Given the description of an element on the screen output the (x, y) to click on. 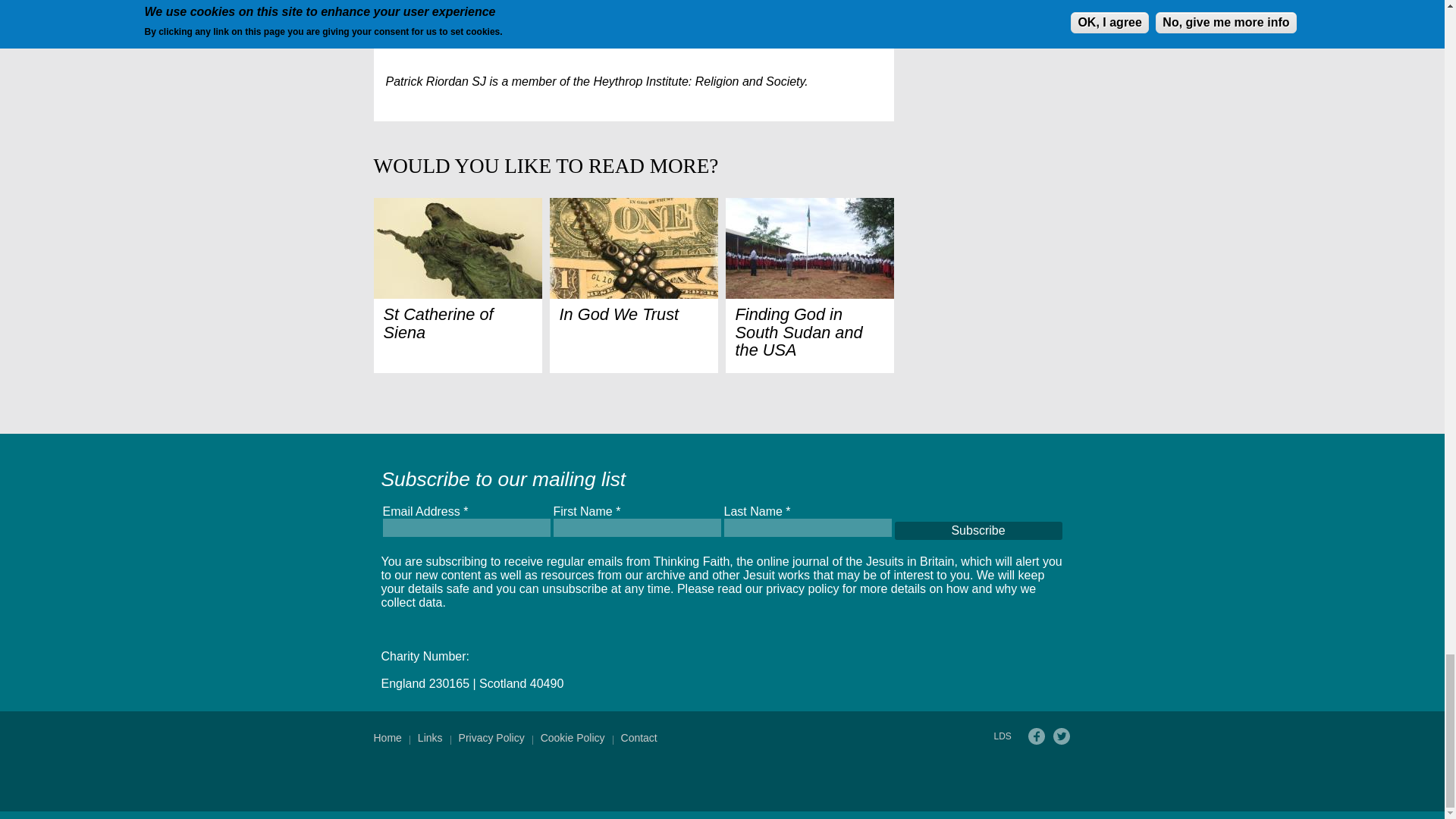
Subscribe (978, 530)
